Given the description of an element on the screen output the (x, y) to click on. 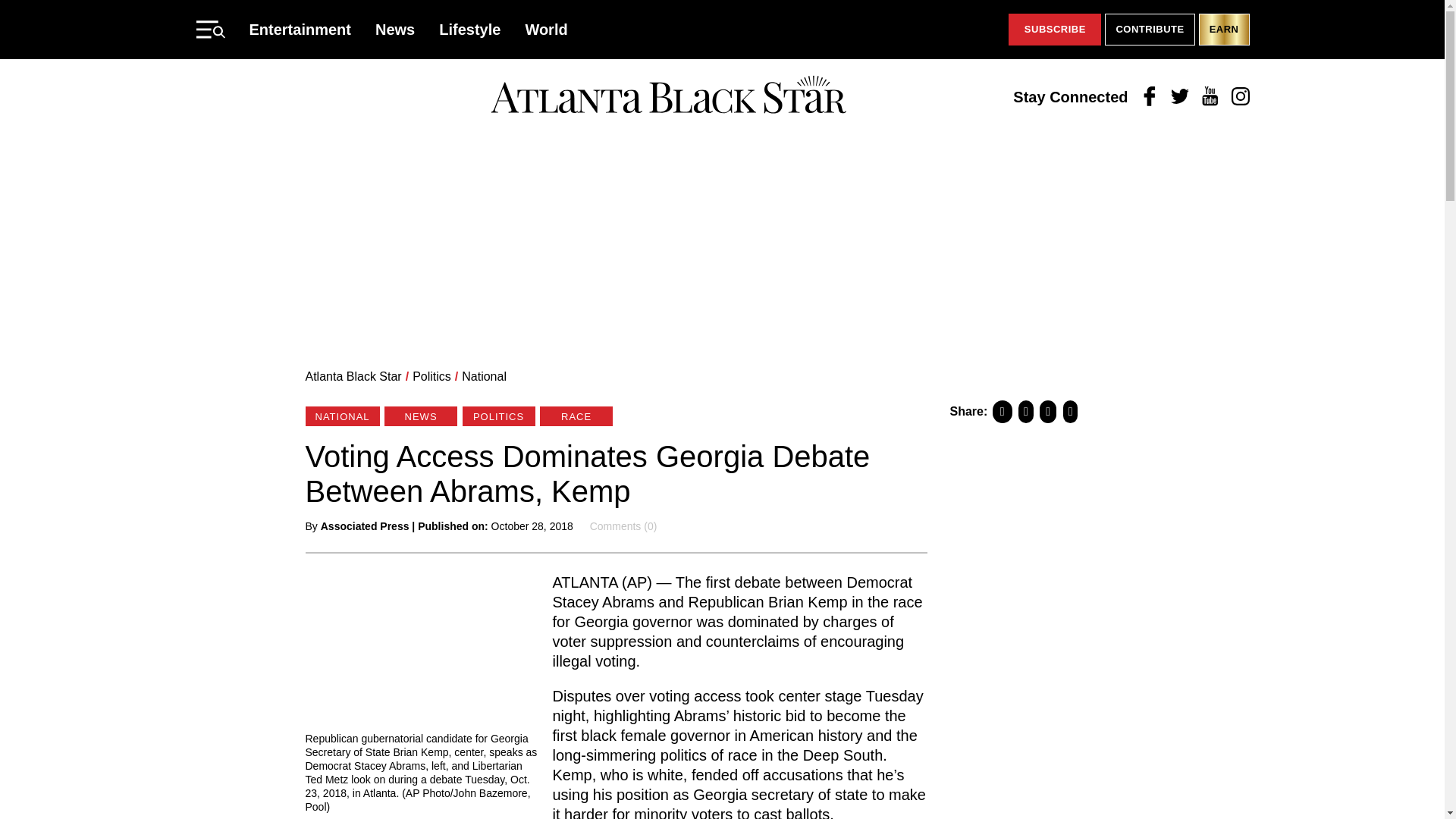
EARN (1223, 29)
Lifestyle (469, 29)
Go to the National Category archives. (483, 376)
Atlanta Black Star (352, 376)
Go to Atlanta Black Star. (352, 376)
SUBSCRIBE (1054, 29)
Atlanta Black Star (667, 96)
Entertainment (299, 29)
Politics (431, 376)
News (394, 29)
CONTRIBUTE (1149, 29)
World (545, 29)
Go to the Politics Category archives. (431, 376)
